Given the description of an element on the screen output the (x, y) to click on. 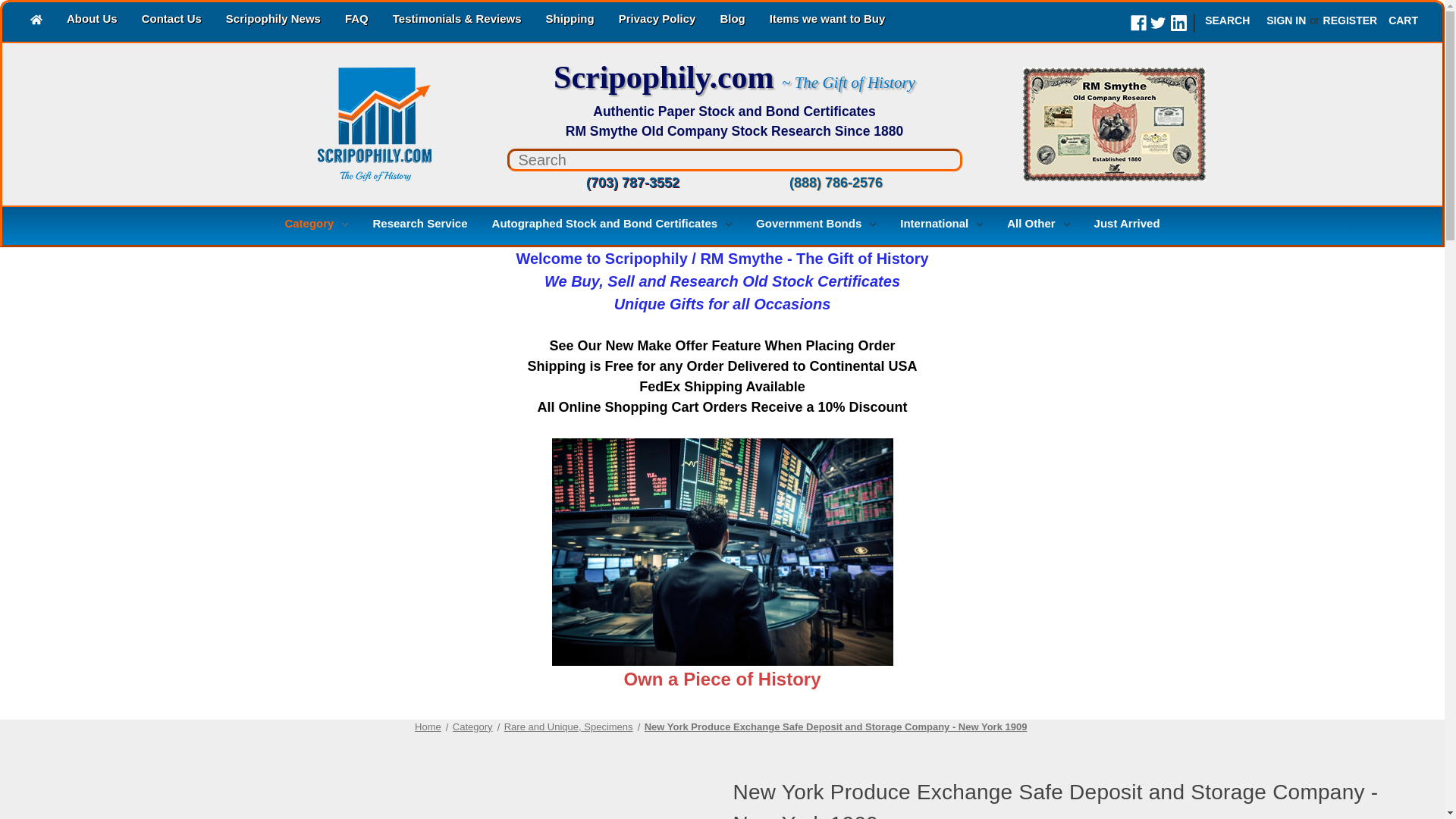
About Us (92, 20)
Scripophily News (273, 20)
SIGN IN (1285, 20)
Blog (732, 20)
Privacy Policy (657, 20)
Scripophily.com (341, 123)
FAQ (356, 20)
Category (315, 225)
Shipping (570, 20)
SEARCH (1226, 20)
REGISTER (1350, 20)
CART (1403, 20)
Items we want to Buy (827, 20)
Contact Us (171, 20)
